Given the description of an element on the screen output the (x, y) to click on. 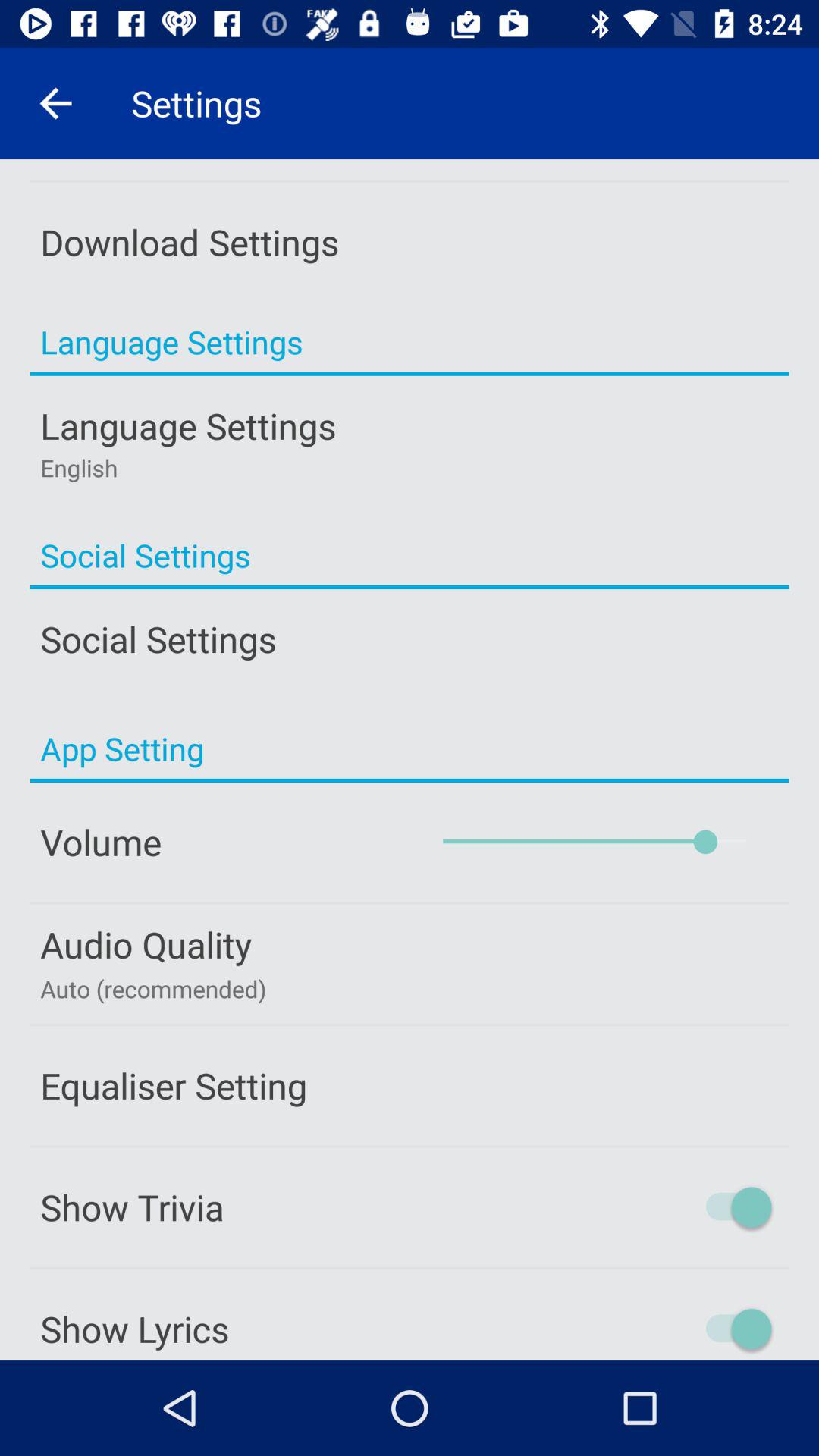
show lyrics button (674, 1328)
